Given the description of an element on the screen output the (x, y) to click on. 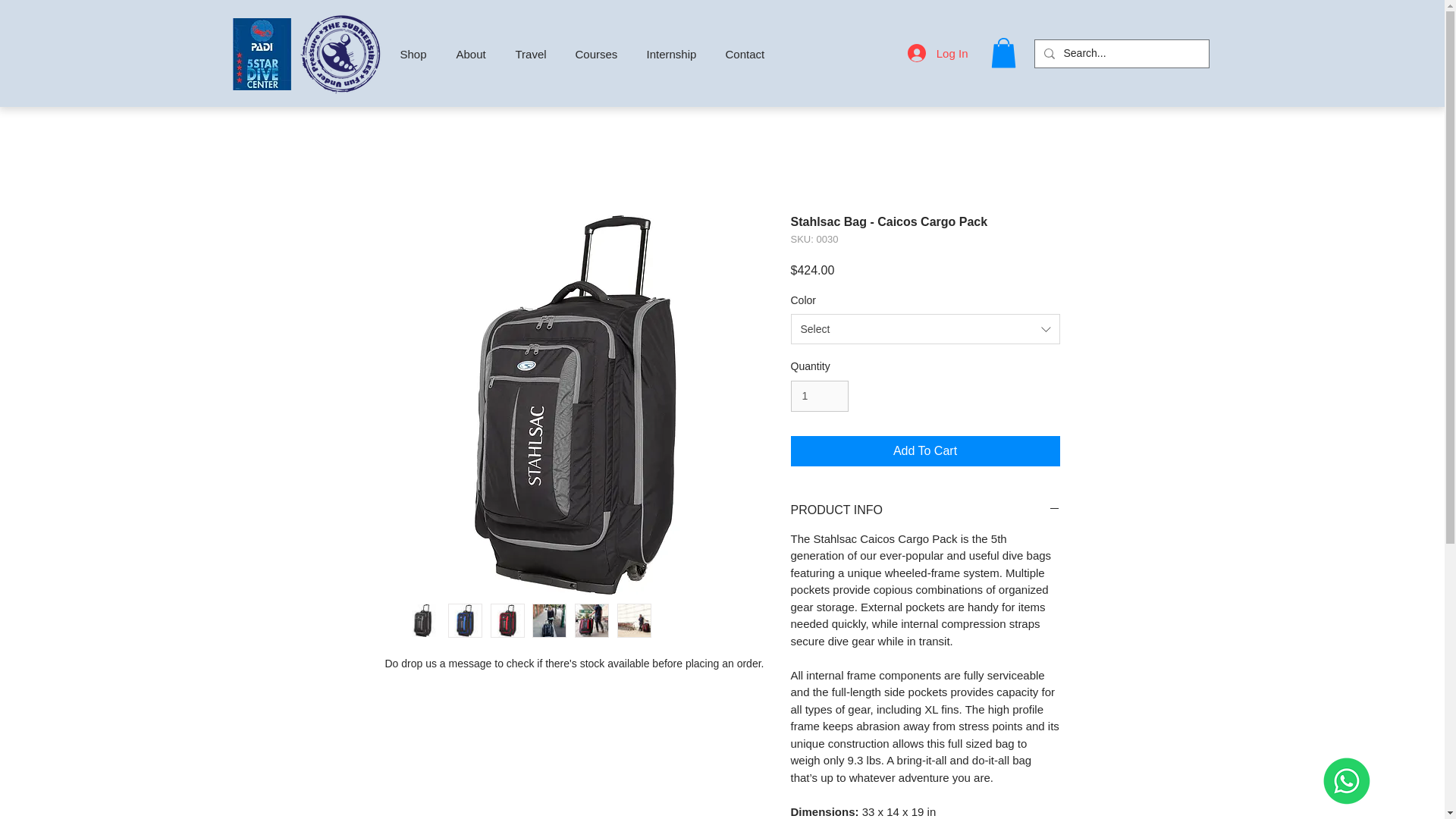
Travel (533, 54)
About (473, 54)
Courses (599, 54)
Log In (937, 52)
Contact (748, 54)
Internship (674, 54)
1 (818, 395)
Shop (416, 54)
